Given the description of an element on the screen output the (x, y) to click on. 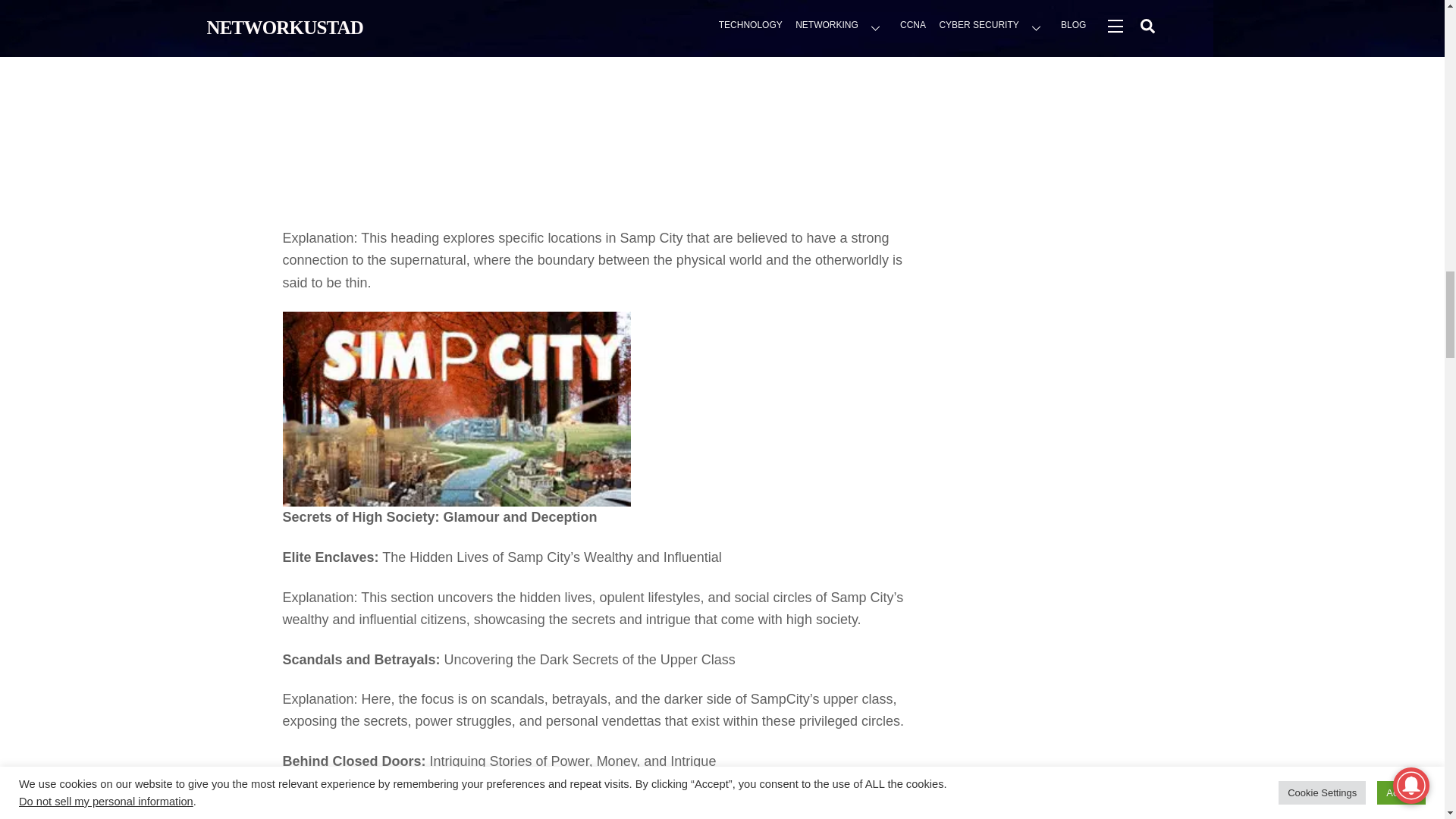
power (360, 817)
sampcity2removebgpreview NetworkUstad (456, 409)
Advertisement (594, 121)
